Given the description of an element on the screen output the (x, y) to click on. 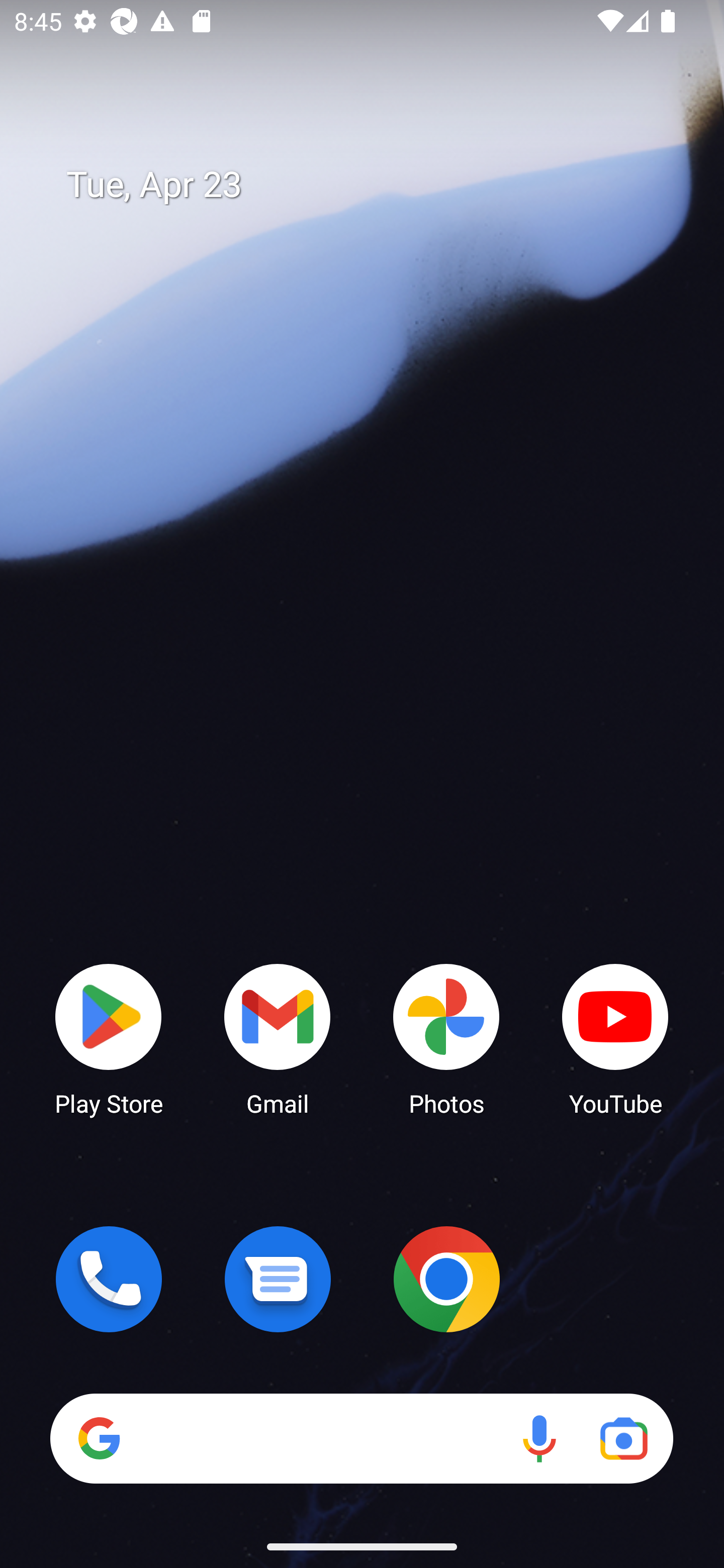
Tue, Apr 23 (375, 184)
Play Store (108, 1038)
Gmail (277, 1038)
Photos (445, 1038)
YouTube (615, 1038)
Phone (108, 1279)
Messages (277, 1279)
Chrome (446, 1279)
Search Voice search Google Lens (361, 1438)
Voice search (539, 1438)
Google Lens (623, 1438)
